Given the description of an element on the screen output the (x, y) to click on. 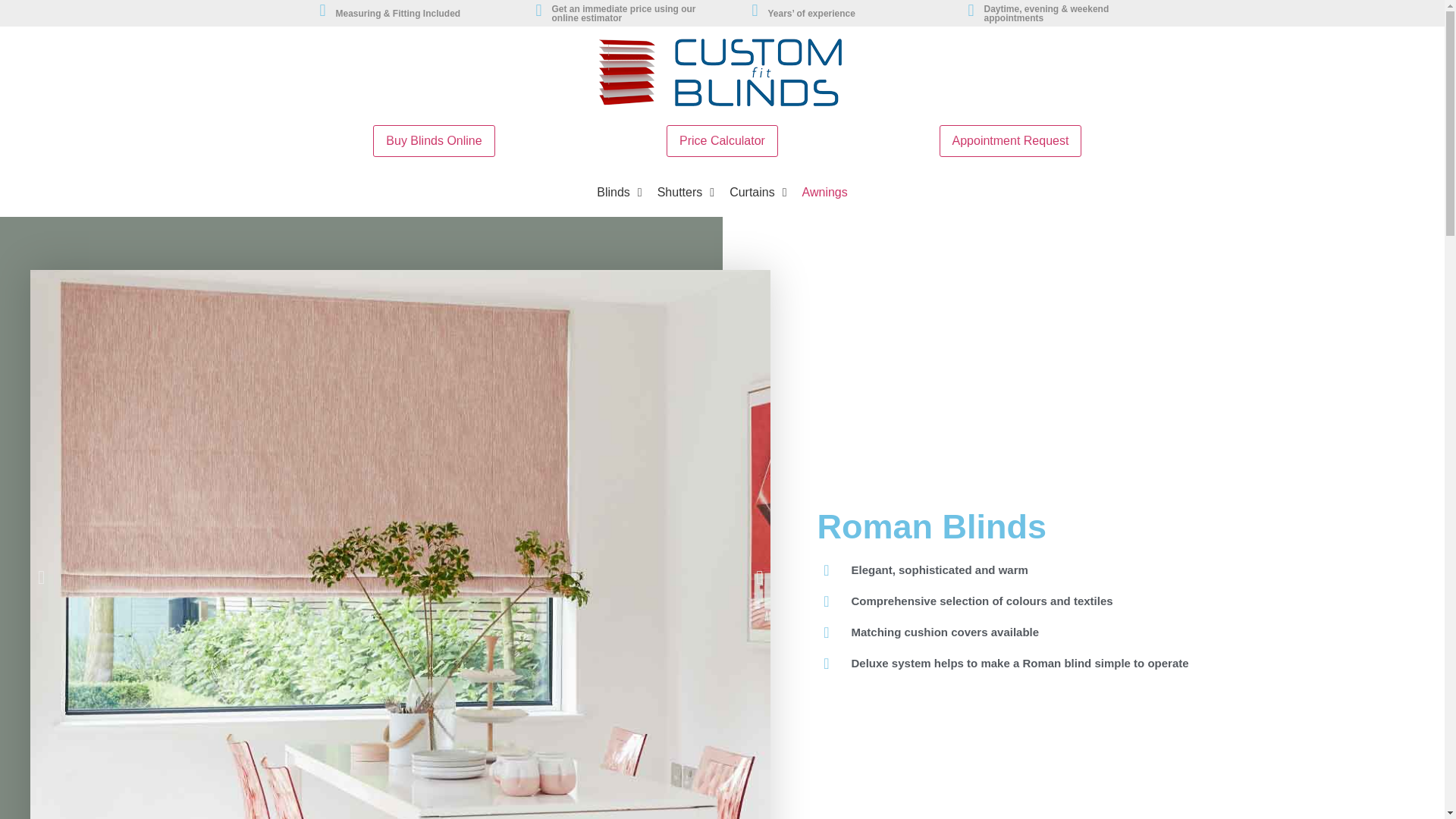
Shutters (685, 192)
Buy Blinds Online (433, 140)
Appointment Request (1010, 140)
Appointment Request (1010, 141)
Blinds (619, 192)
Price Calculator (721, 140)
Price Calculator (721, 141)
Curtains (757, 192)
Buy Blinds Online (433, 141)
